Given the description of an element on the screen output the (x, y) to click on. 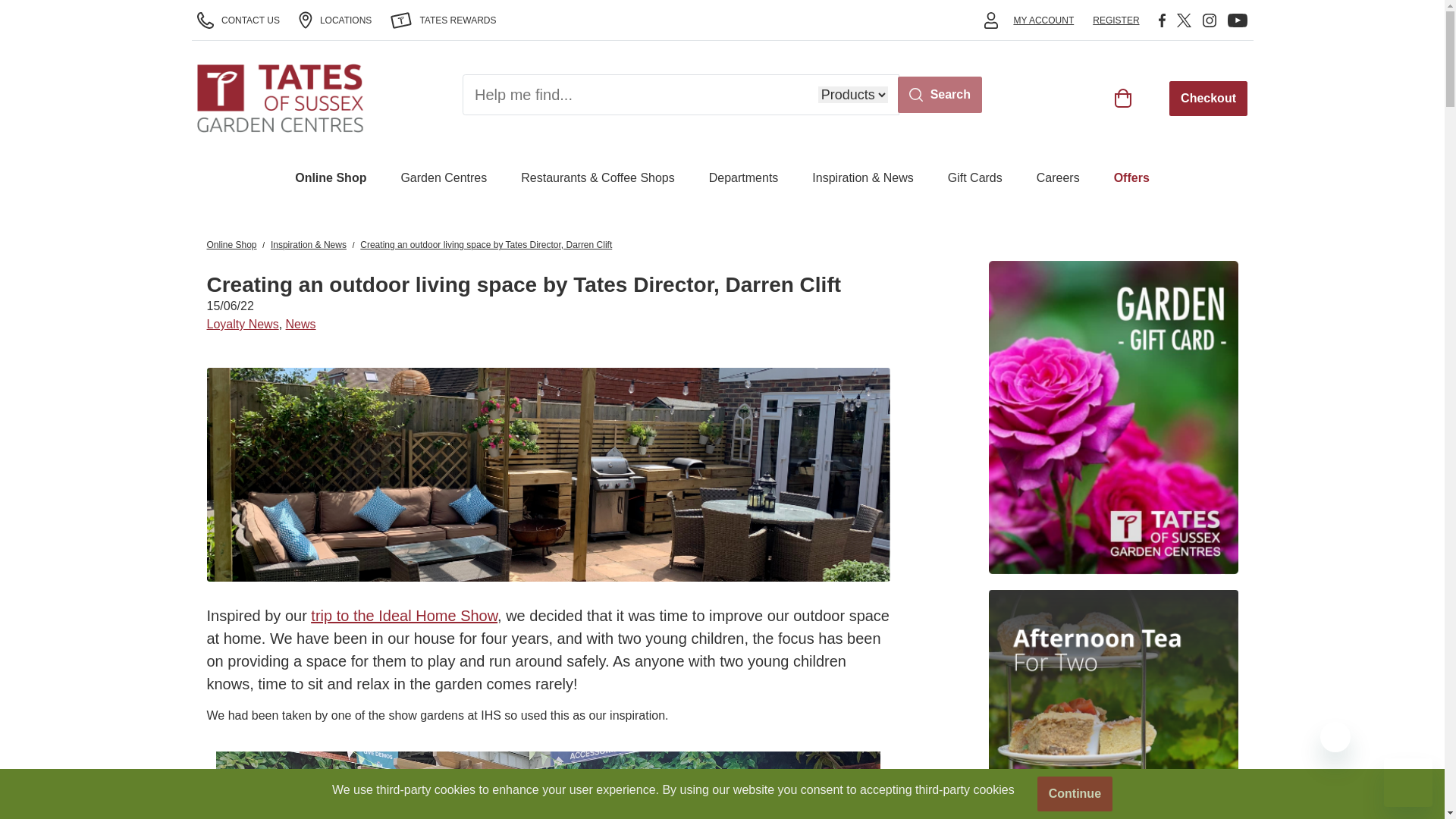
Garden Centres (443, 177)
Gift Cards (975, 177)
You have 0 items in your Basket. (1123, 97)
Checkout (1208, 97)
Our inspiration at the Ideal Home Show (547, 785)
Online Shop (330, 177)
Search (939, 94)
MY ACCOUNT (1043, 19)
Departments (743, 177)
REGISTER (1115, 20)
Offers (1131, 177)
Careers (1058, 177)
